Given the description of an element on the screen output the (x, y) to click on. 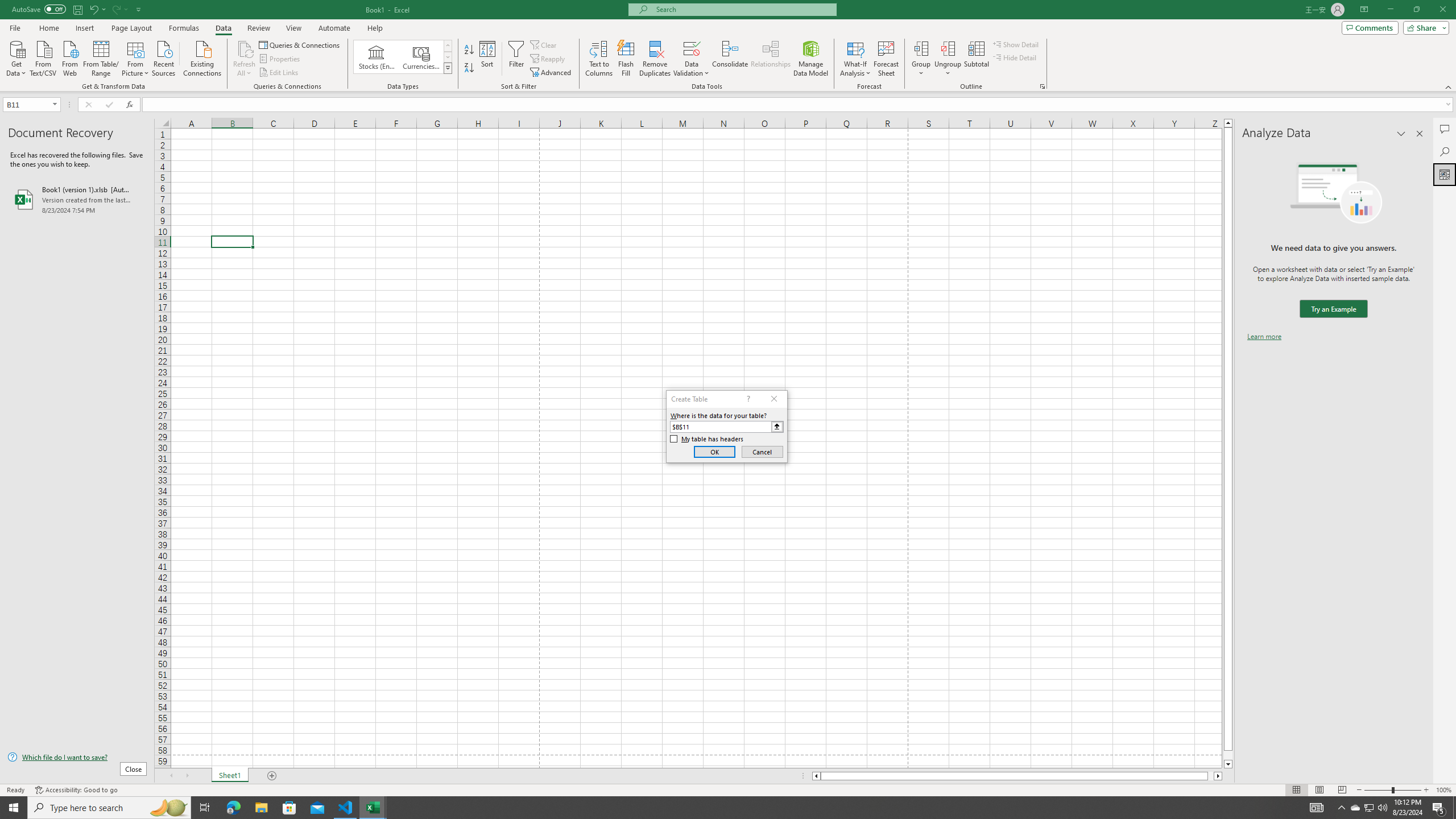
Consolidate... (729, 58)
Sort A to Z (469, 49)
Zoom In (1426, 790)
From Picture (135, 57)
Comments (1369, 27)
Restore Down (1416, 9)
Redo (115, 9)
Save (77, 9)
Help (374, 28)
Class: MsoCommandBar (728, 45)
Row up (448, 45)
Clear (544, 44)
Normal (1296, 790)
Flash Fill (625, 58)
Zoom (1392, 790)
